Given the description of an element on the screen output the (x, y) to click on. 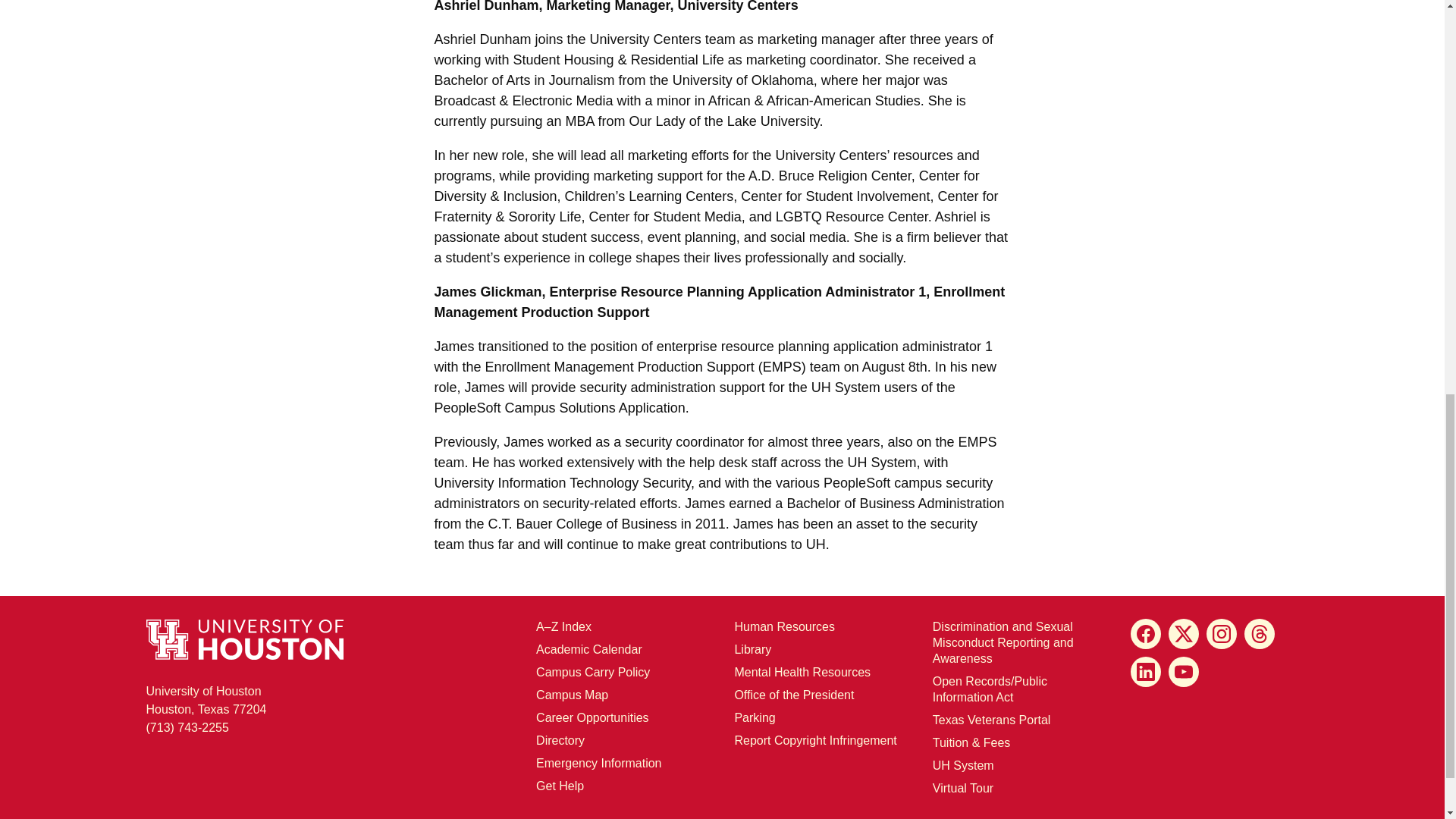
Campus Carry Policy (592, 671)
Virtual Tour (962, 788)
Facebook (1145, 634)
Texas Veterans Portal (992, 719)
LinkedIn (1145, 671)
Report Copyright Infringement (814, 739)
Office of the President (793, 694)
Threads (1259, 634)
University of Houston (856, 462)
Parking (753, 717)
